Given the description of an element on the screen output the (x, y) to click on. 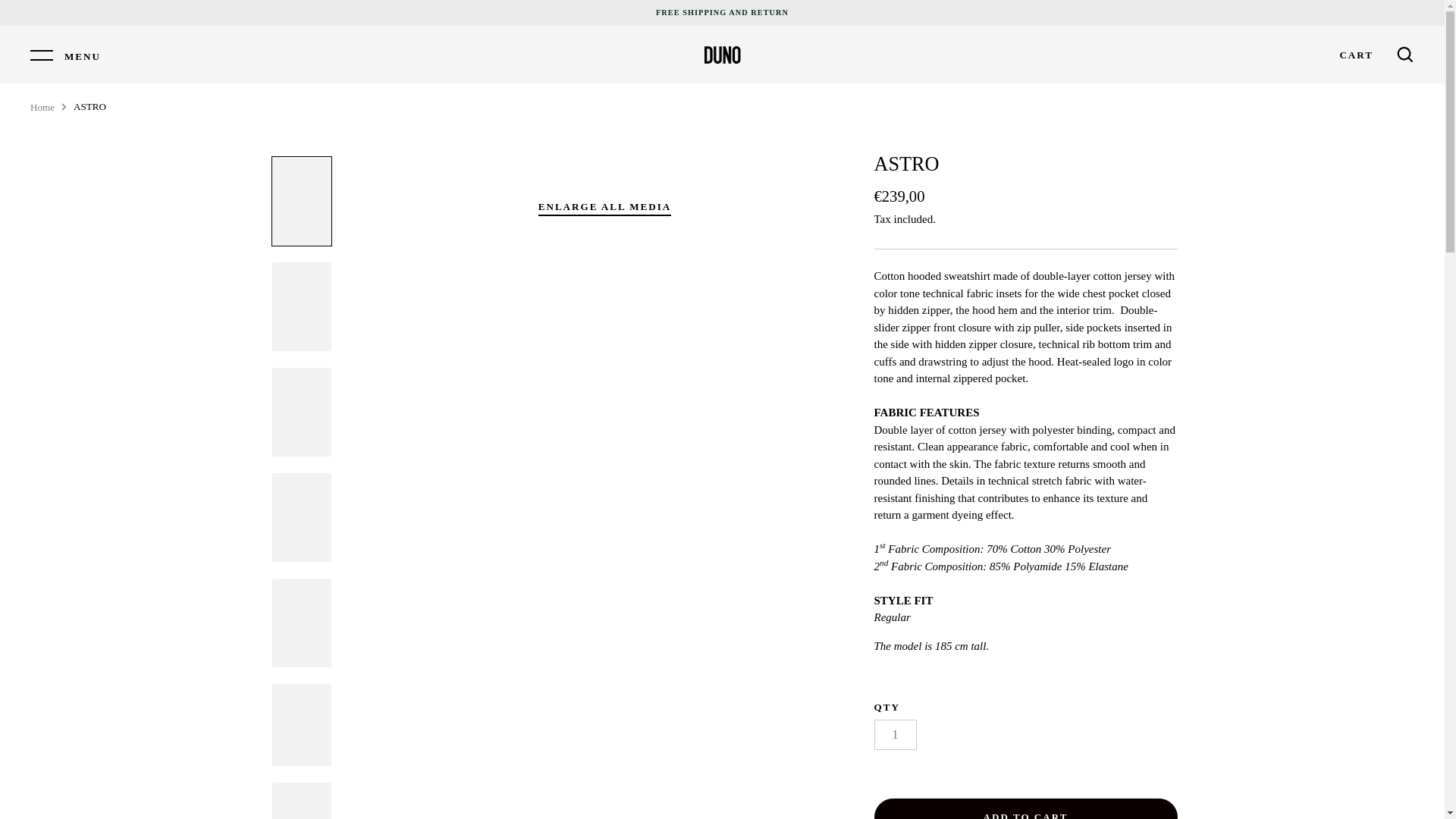
1 (894, 734)
CART (1356, 54)
MENU (65, 54)
Home (42, 107)
